Given the description of an element on the screen output the (x, y) to click on. 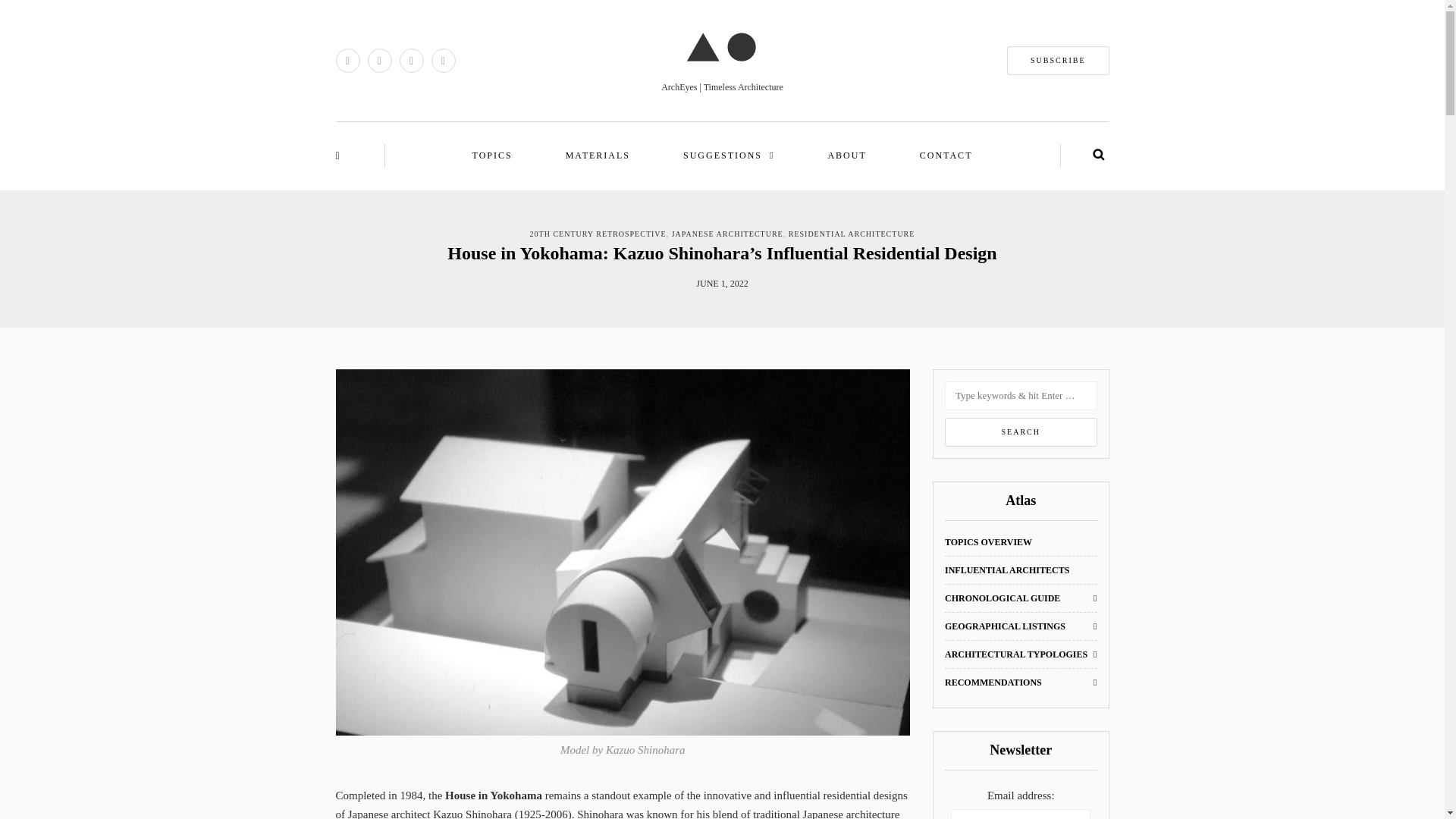
MATERIALS (597, 155)
SUBSCRIBE (1057, 60)
TOPICS (492, 155)
SUGGESTIONS (728, 155)
Search (1020, 431)
